Given the description of an element on the screen output the (x, y) to click on. 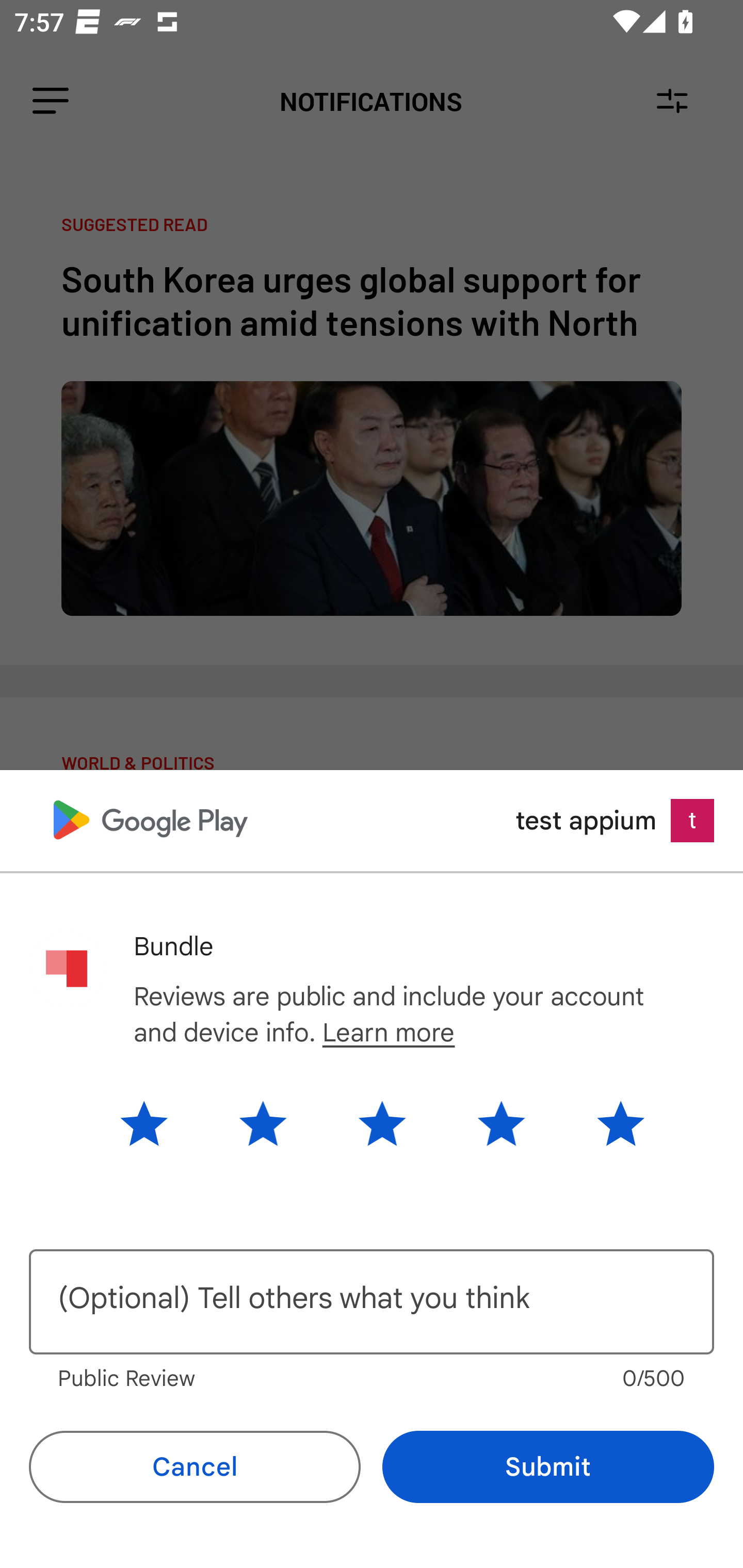
First star selected (159, 1123)
Second star selected (262, 1123)
Third star selected (381, 1123)
Fourth star selected (500, 1123)
Fifth star selected (604, 1123)
(Optional) Tell others what you think (371, 1301)
Cancel (194, 1466)
Submit (548, 1466)
